Given the description of an element on the screen output the (x, y) to click on. 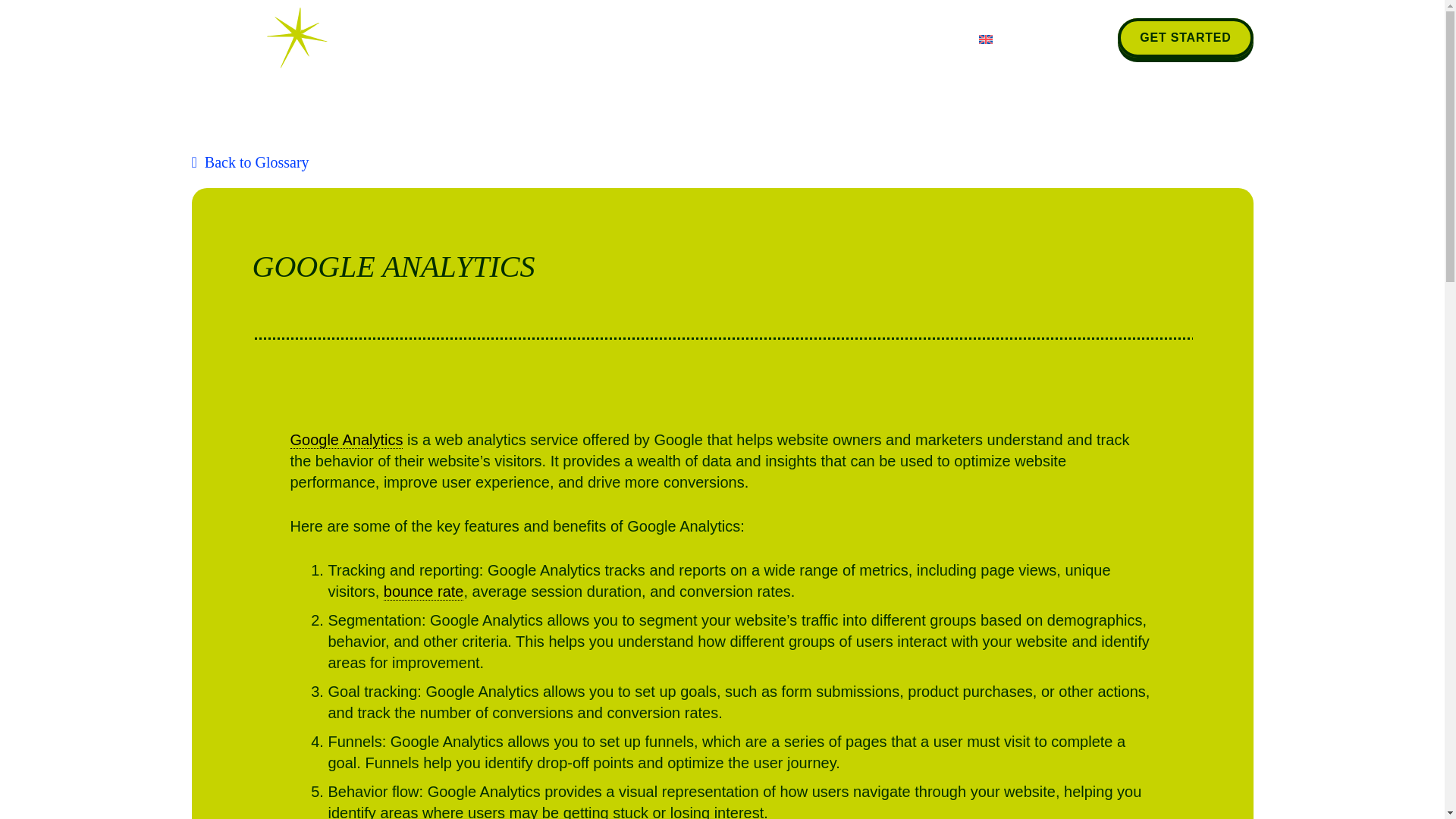
English (1020, 38)
GET STARTED (1185, 37)
Client Success Stories (536, 38)
About Us (812, 38)
Home (402, 38)
Google Analytics (346, 439)
What We Do (699, 38)
bounce rate (424, 591)
English (1020, 38)
Back to Glossary (249, 161)
